Given the description of an element on the screen output the (x, y) to click on. 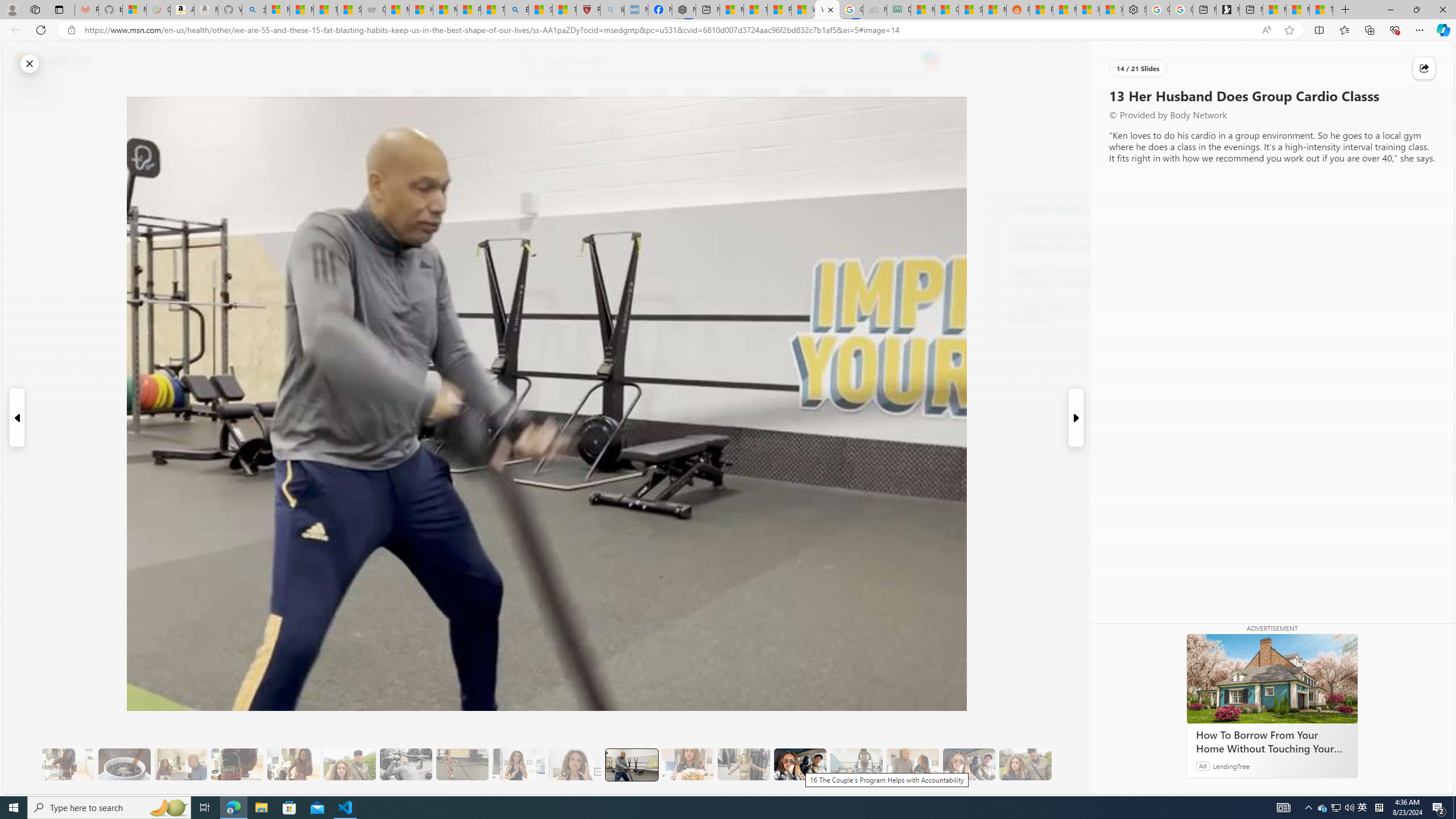
Discover (322, 92)
Science (557, 92)
20 Overall, It Will Improve Your Health (1024, 764)
To get missing image descriptions, open the context menu. (1109, 92)
Local (517, 92)
Open navigation menu (292, 92)
6 Since Eating More Protein Her Training Has Improved (237, 764)
Lifestyle (812, 92)
19 It Also Simplifies Thiings (968, 764)
Previous Slide (16, 417)
News (419, 92)
